Given the description of an element on the screen output the (x, y) to click on. 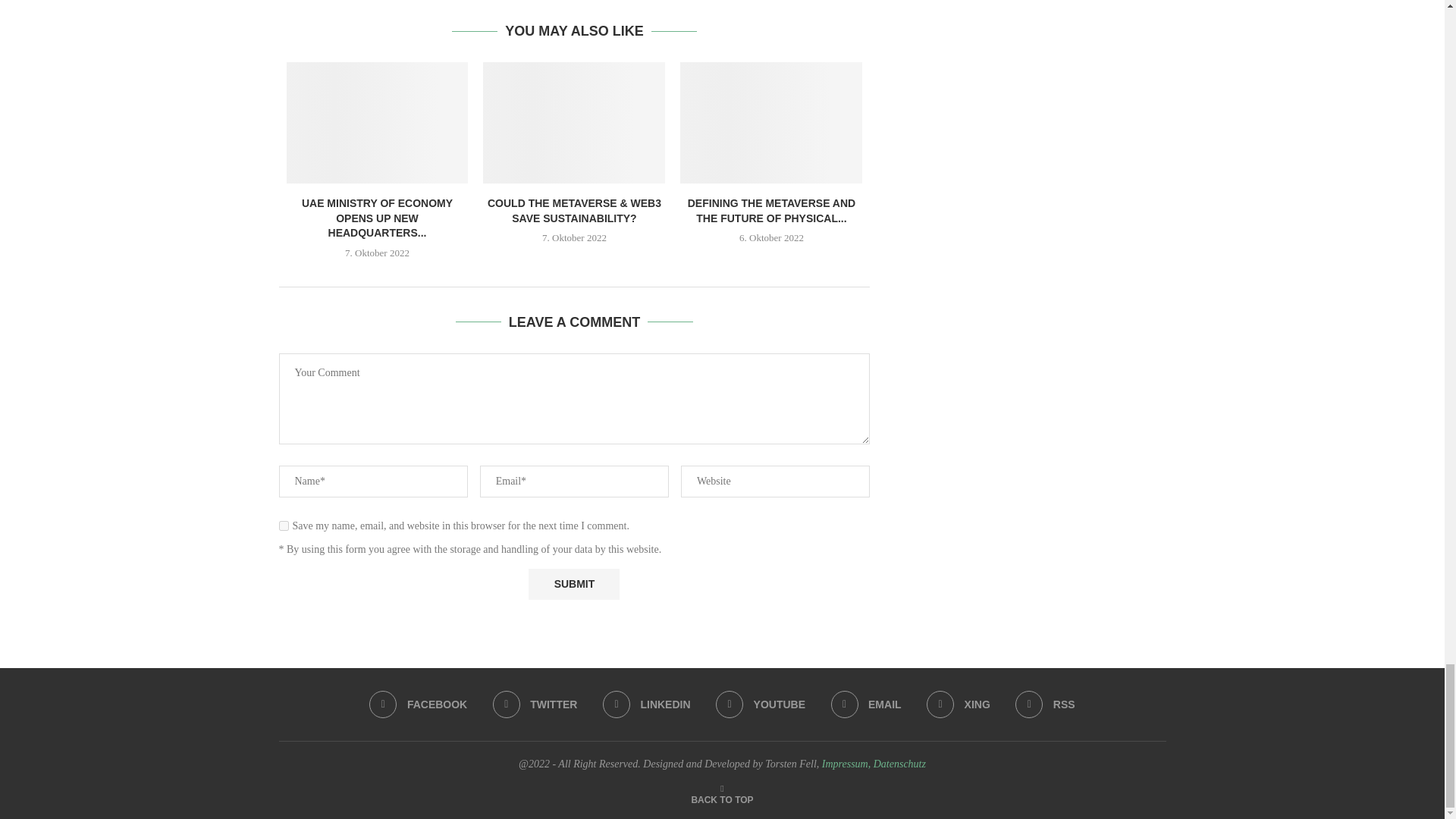
Submit (574, 583)
yes (283, 525)
